Given the description of an element on the screen output the (x, y) to click on. 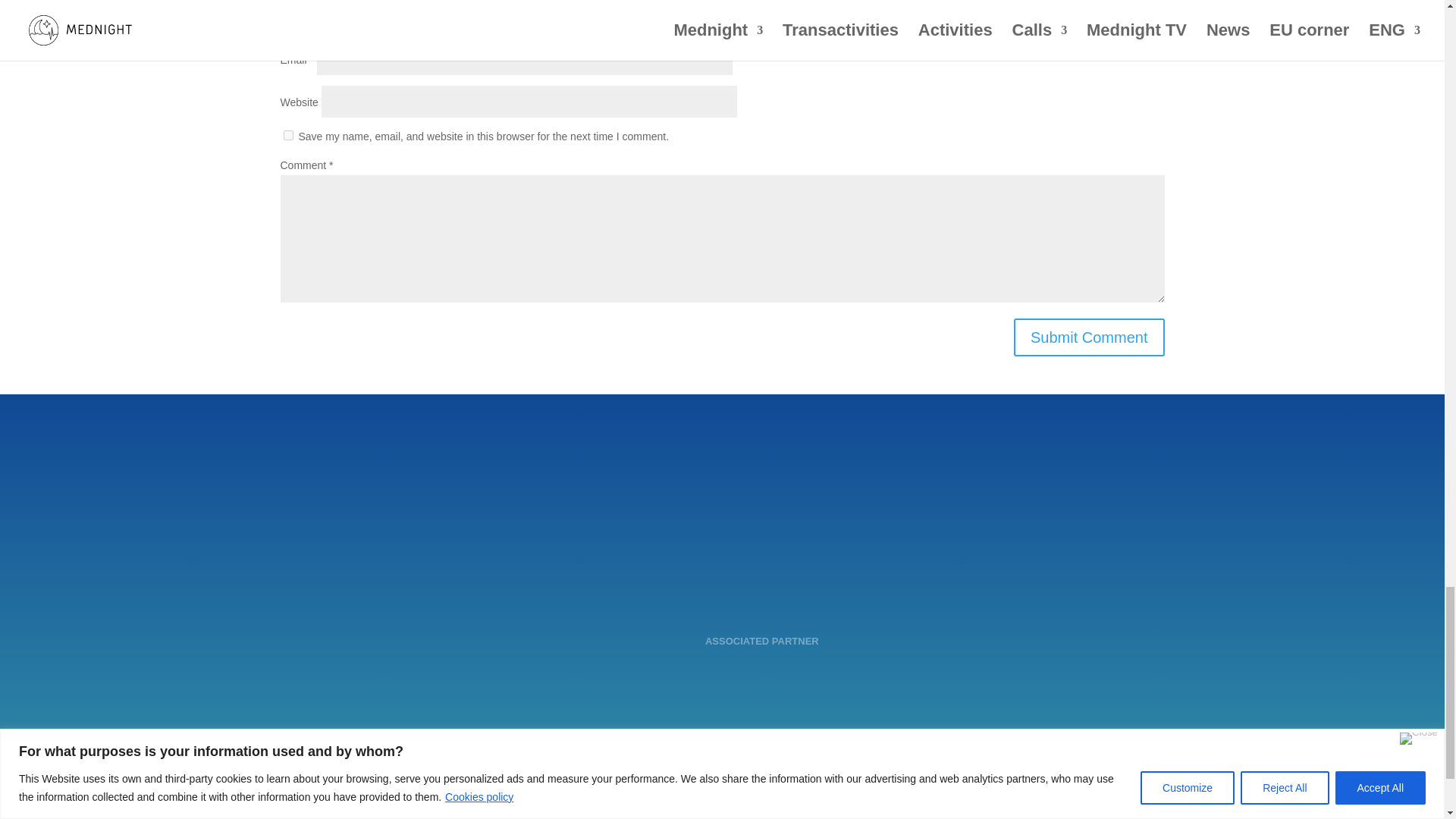
yes (288, 135)
Submit Comment (1088, 337)
